Given the description of an element on the screen output the (x, y) to click on. 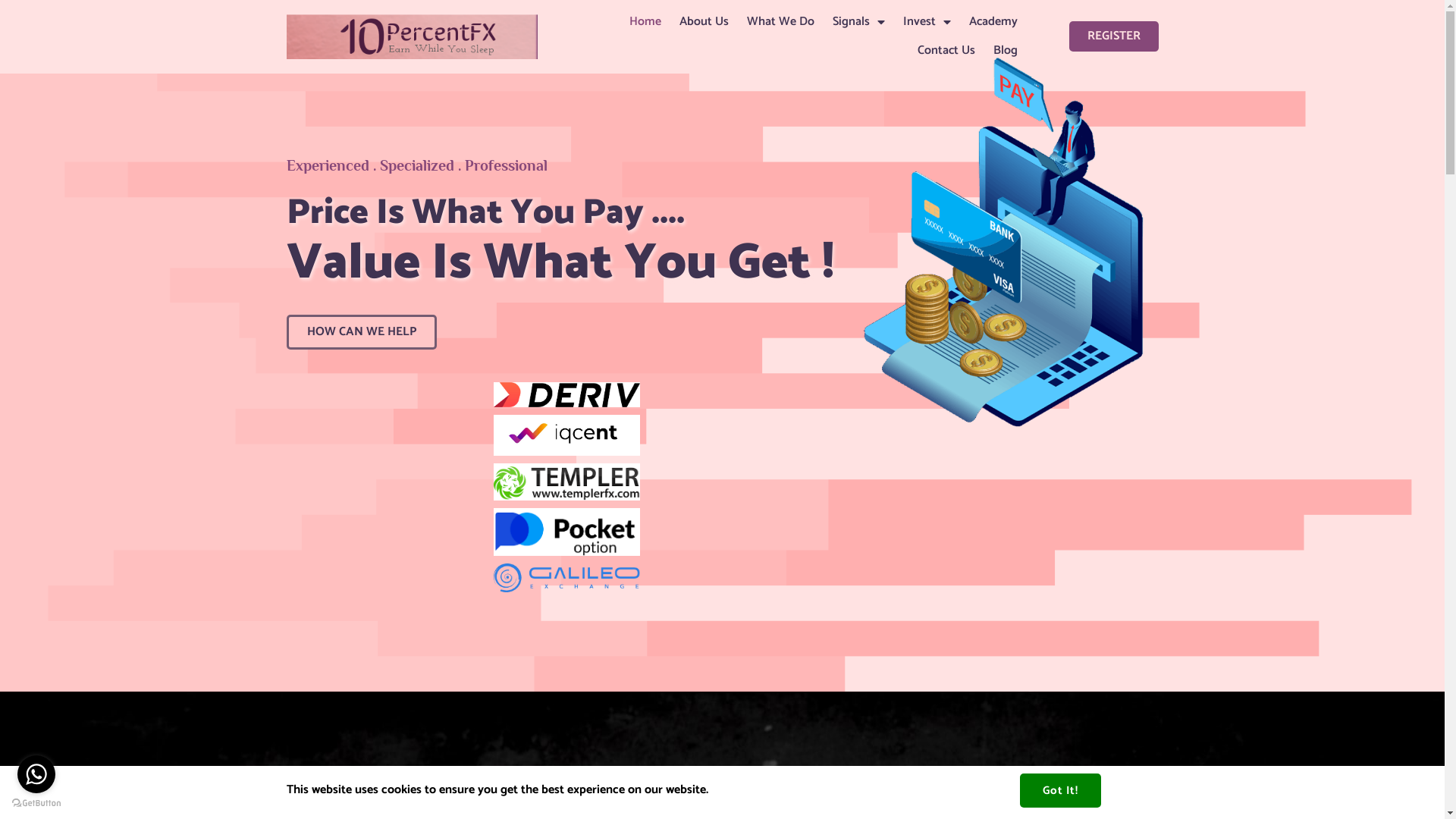
home-header Element type: hover (1010, 240)
Signals Element type: text (858, 21)
download (4) Element type: hover (566, 394)
REGISTER Element type: text (1113, 36)
Academy Element type: text (993, 21)
What We Do Element type: text (780, 21)
About Us Element type: text (703, 21)
ge_logo Element type: hover (566, 577)
images (2) Element type: hover (566, 481)
Got It! Element type: text (1060, 790)
download (2) Element type: hover (566, 532)
HOW CAN WE HELP Element type: text (361, 331)
Invest Element type: text (926, 21)
IMG_20221025_125915 Element type: hover (411, 36)
Home Element type: text (644, 21)
Contact Us Element type: text (946, 50)
Blog Element type: text (1005, 50)
IMG_20230106_150041 Element type: hover (566, 434)
